Given the description of an element on the screen output the (x, y) to click on. 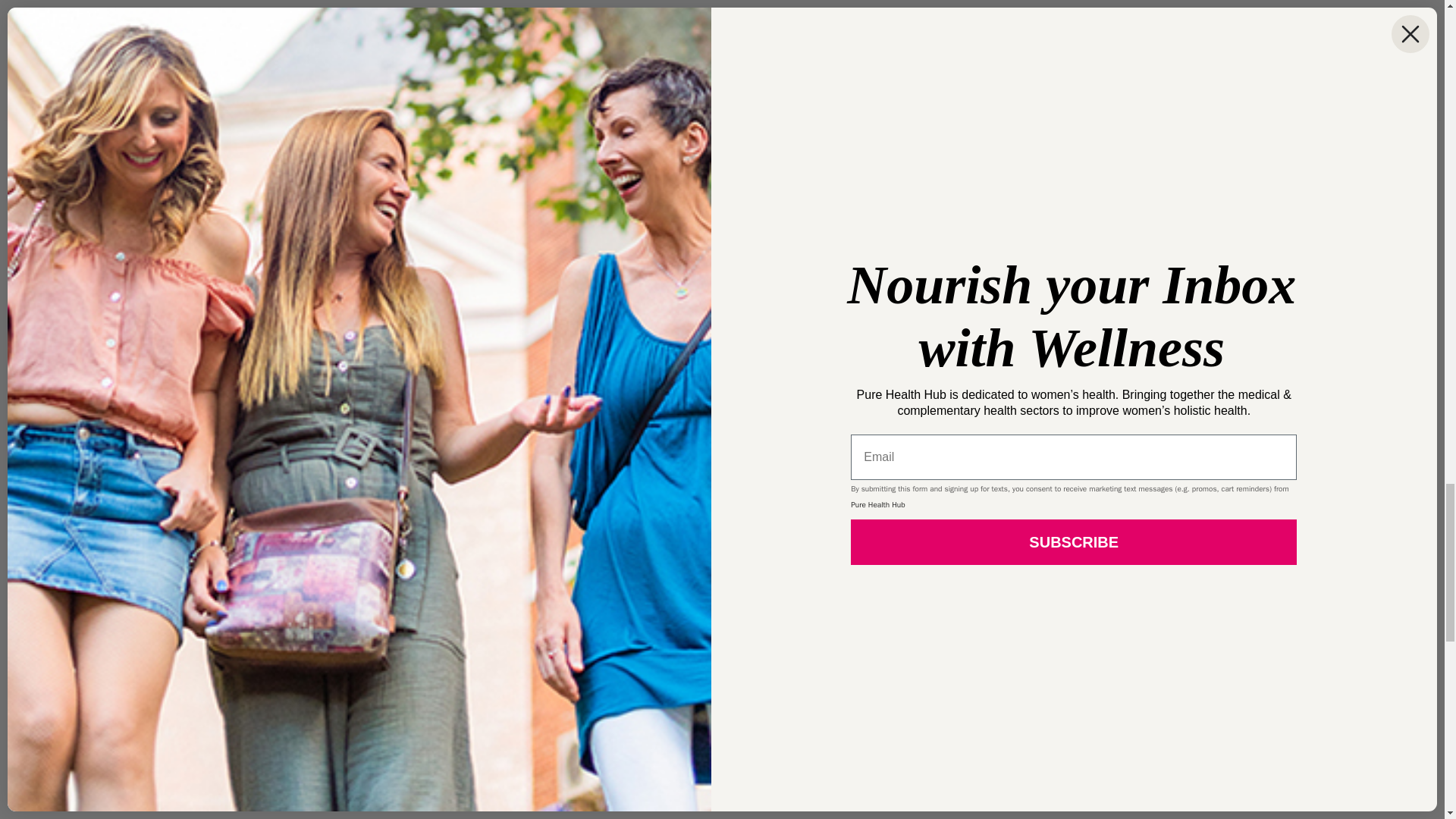
yes (294, 792)
Share on LinkedIn (566, 4)
Share on Facebook (318, 4)
Share on Twitter (400, 4)
Share on Pinterest (481, 4)
